Given the description of an element on the screen output the (x, y) to click on. 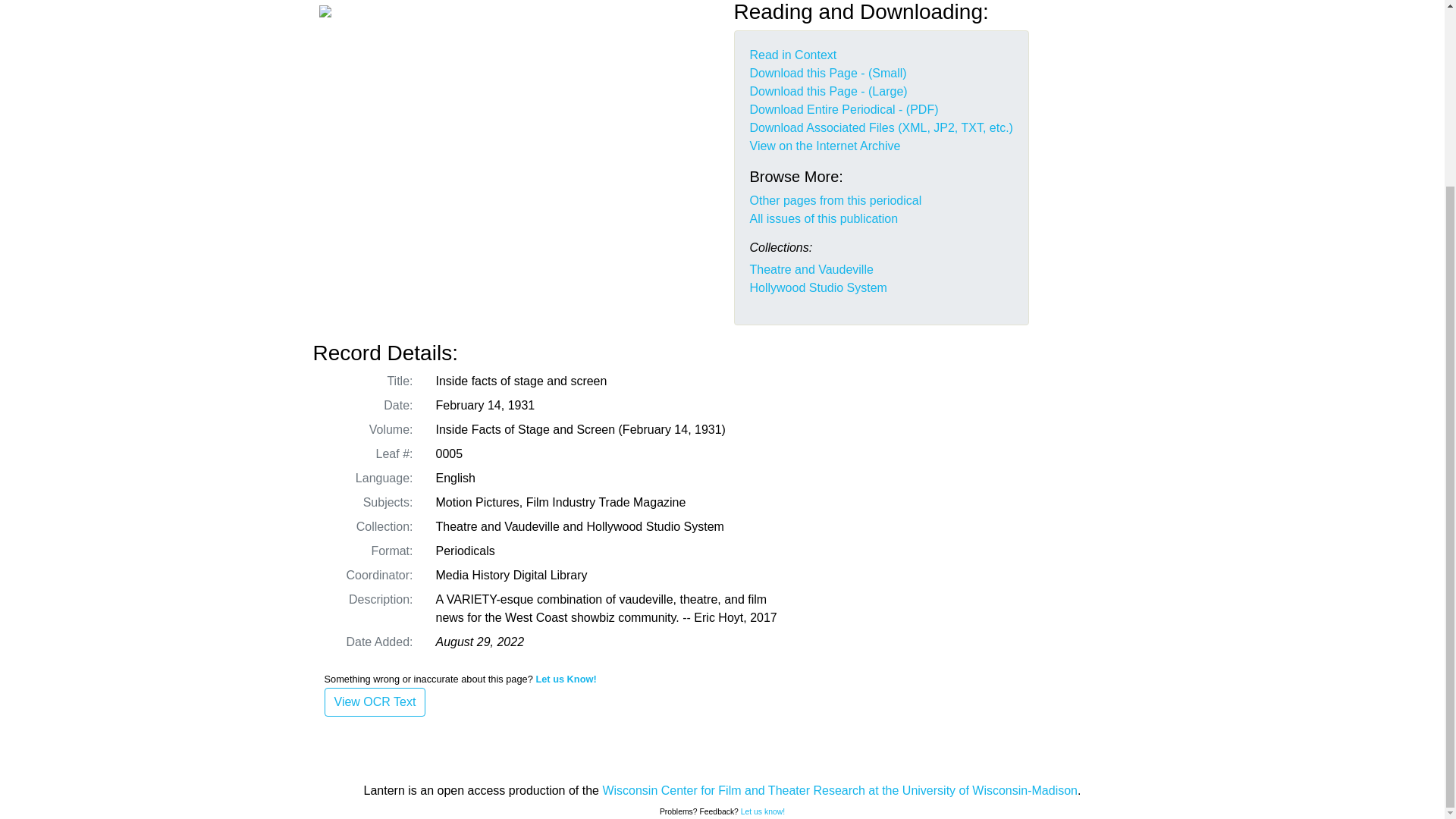
All issues of this publication (823, 218)
Let us Know! (565, 678)
View on the Internet Archive (824, 145)
Hollywood Studio System (817, 287)
Theatre and Vaudeville (810, 269)
View OCR Text (375, 701)
Let us know! (762, 811)
Read in Context (792, 54)
Other pages from this periodical (835, 200)
